Given the description of an element on the screen output the (x, y) to click on. 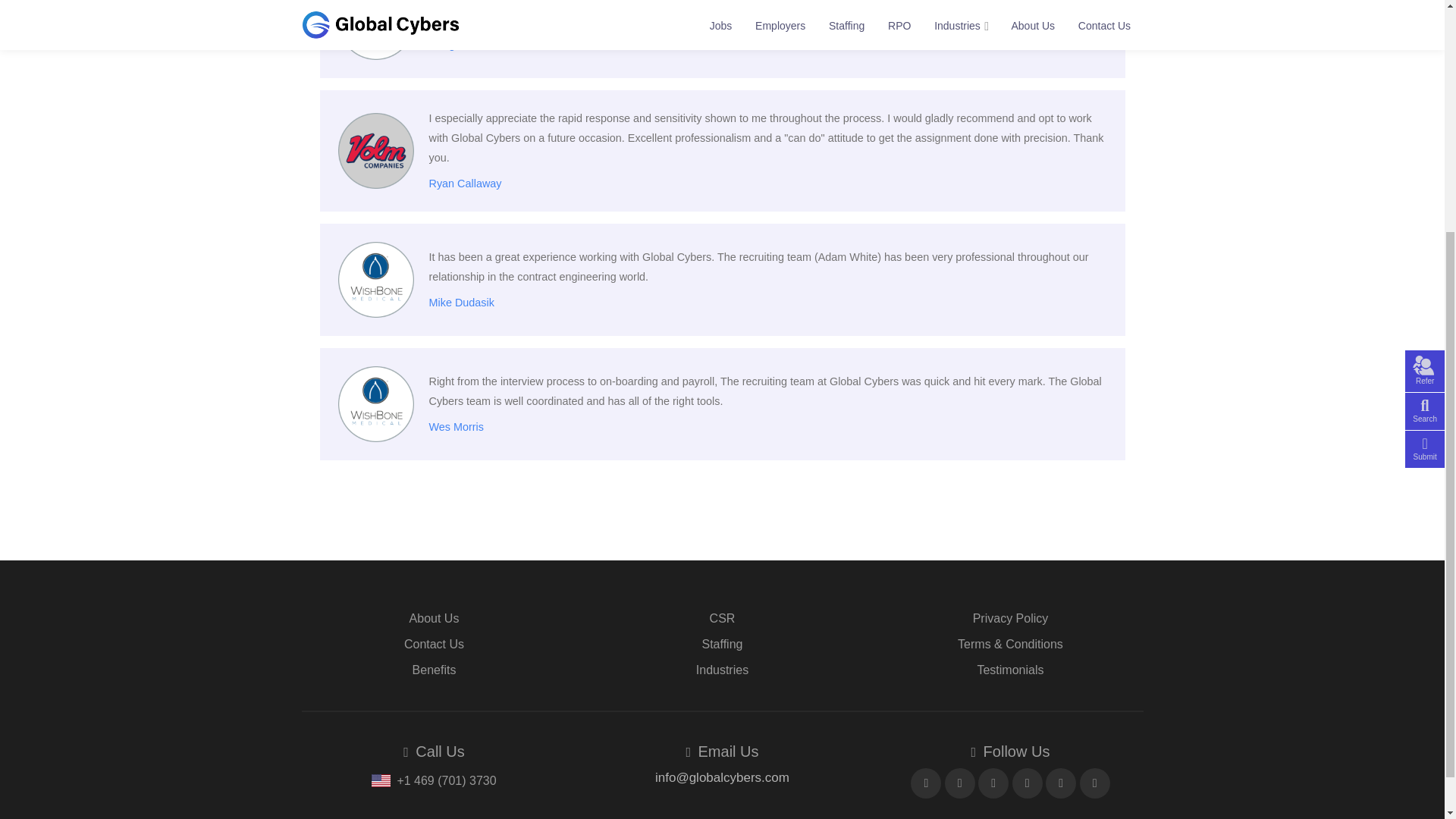
Contact Us (434, 644)
Testimonials (1009, 669)
About Us (434, 617)
Industries (721, 669)
Benefits (434, 669)
CSR (722, 617)
Privacy Policy (1010, 617)
Staffing (721, 644)
